Given the description of an element on the screen output the (x, y) to click on. 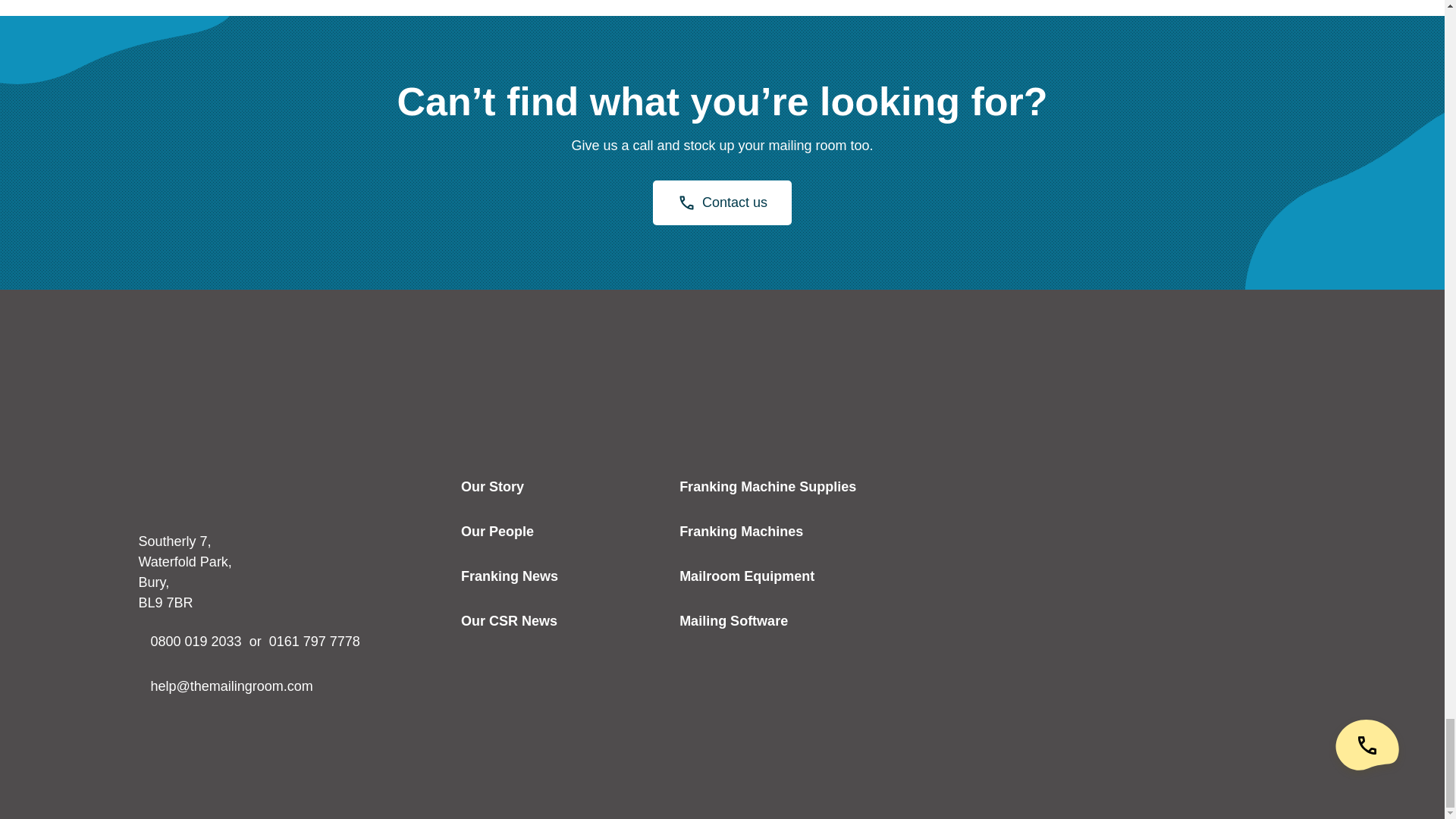
Contact us (722, 202)
